Given the description of an element on the screen output the (x, y) to click on. 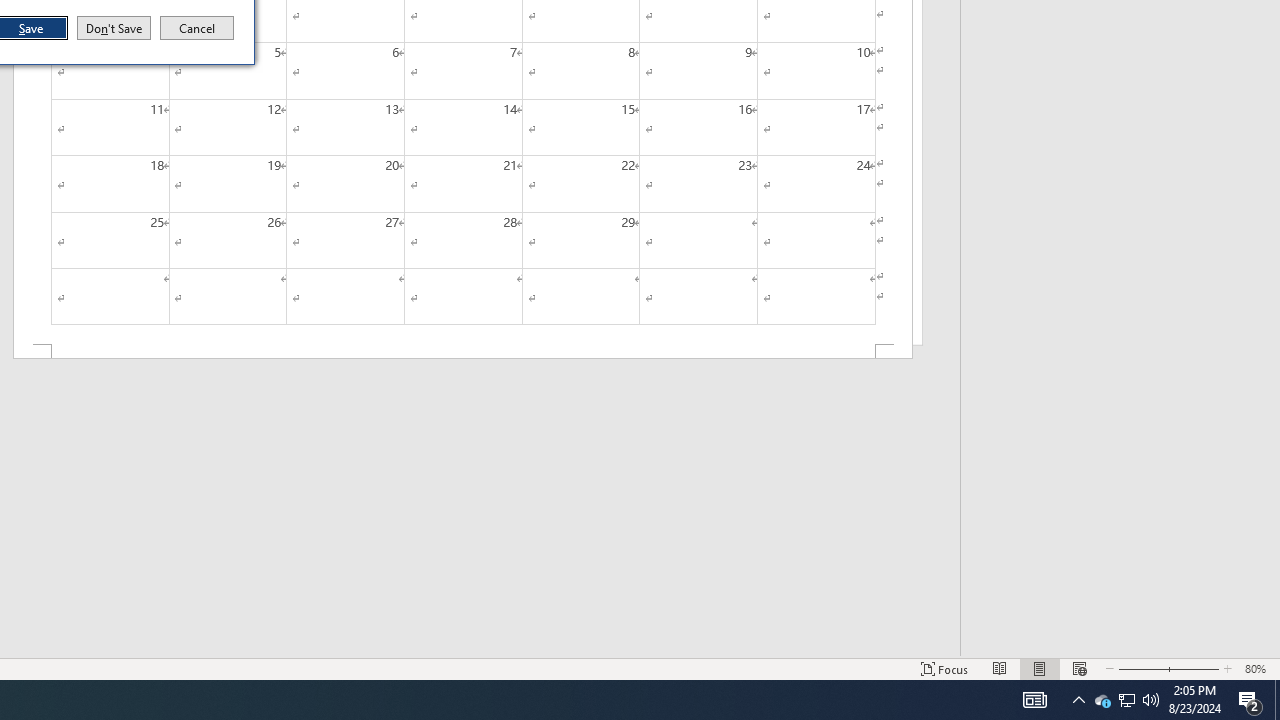
Don't Save (113, 27)
